Given the description of an element on the screen output the (x, y) to click on. 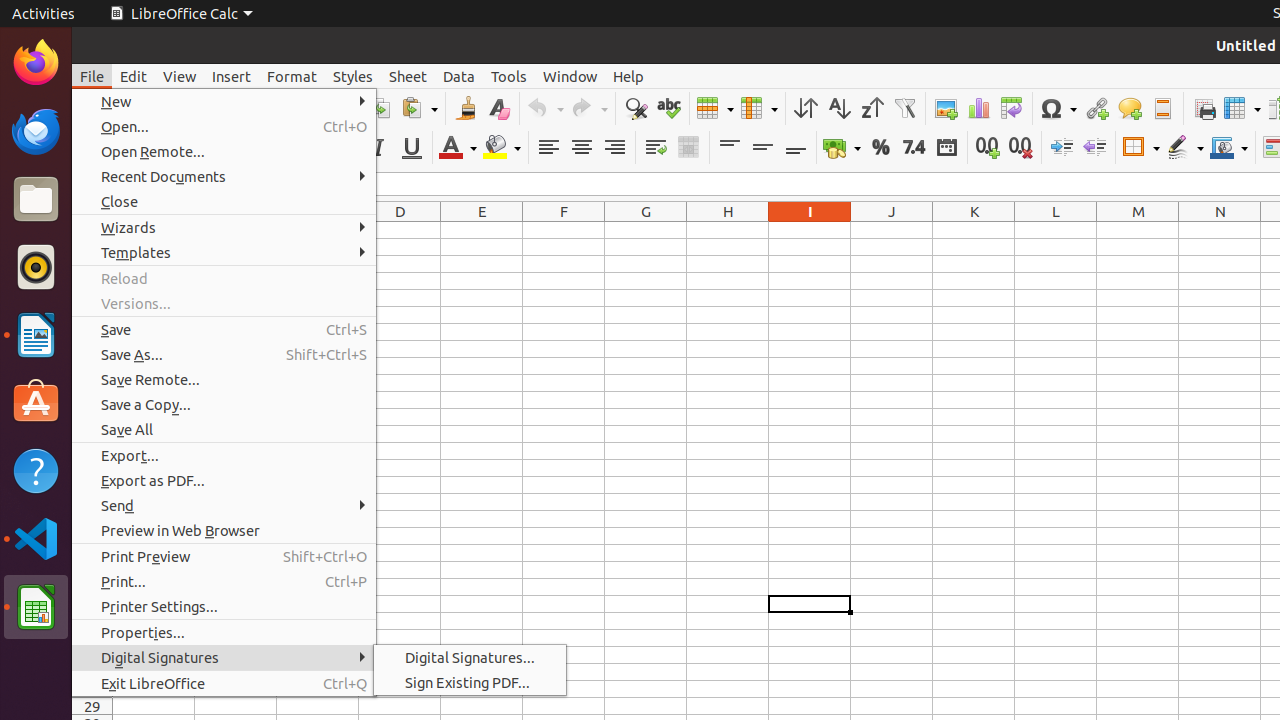
Sort Element type: push-button (805, 108)
Background Color Element type: push-button (502, 147)
Open Remote... Element type: menu-item (224, 151)
View Element type: menu (179, 76)
Export... Element type: menu-item (224, 455)
